Given the description of an element on the screen output the (x, y) to click on. 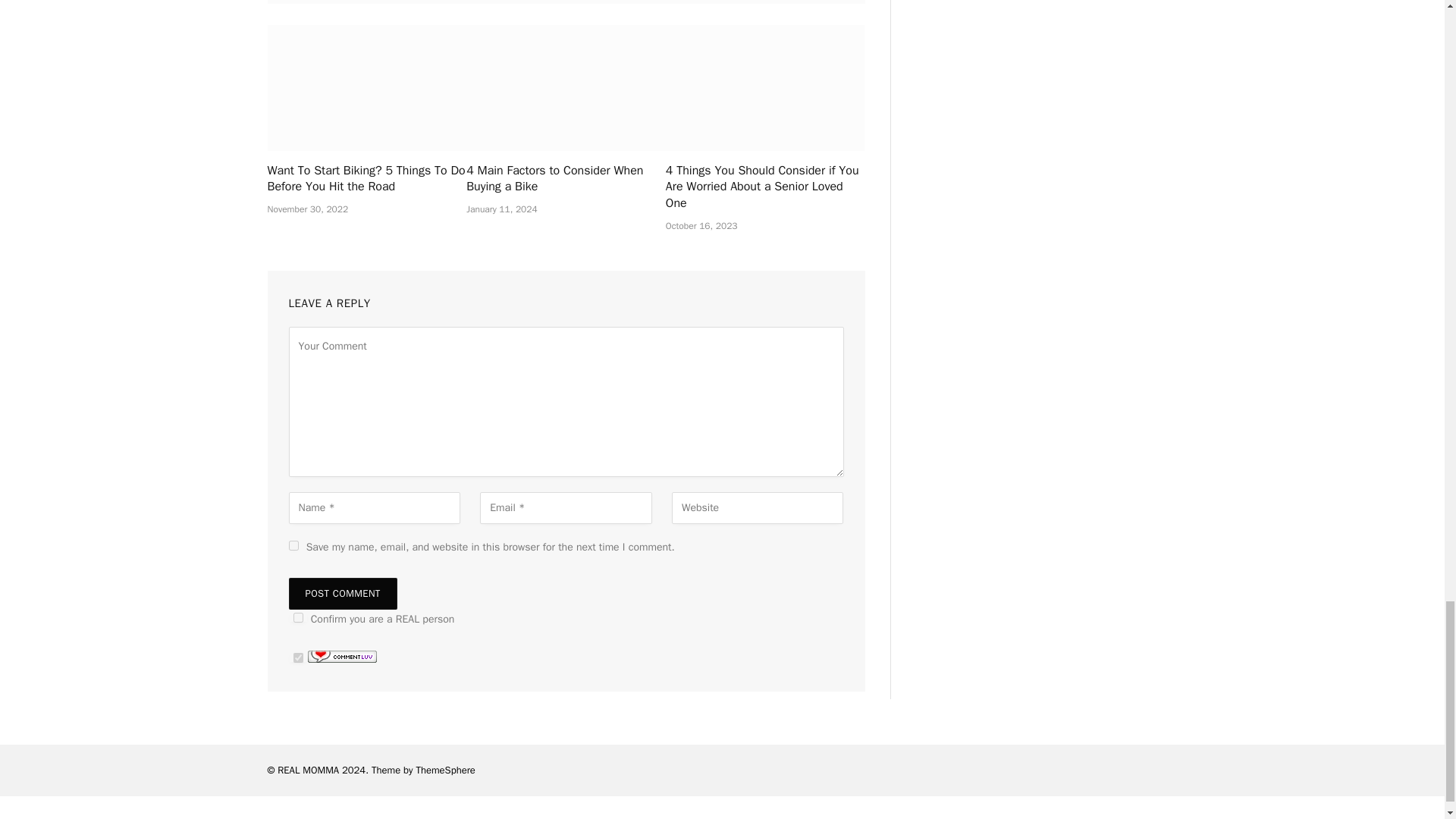
on (297, 657)
yes (293, 545)
on (297, 617)
Post Comment (342, 593)
